Given the description of an element on the screen output the (x, y) to click on. 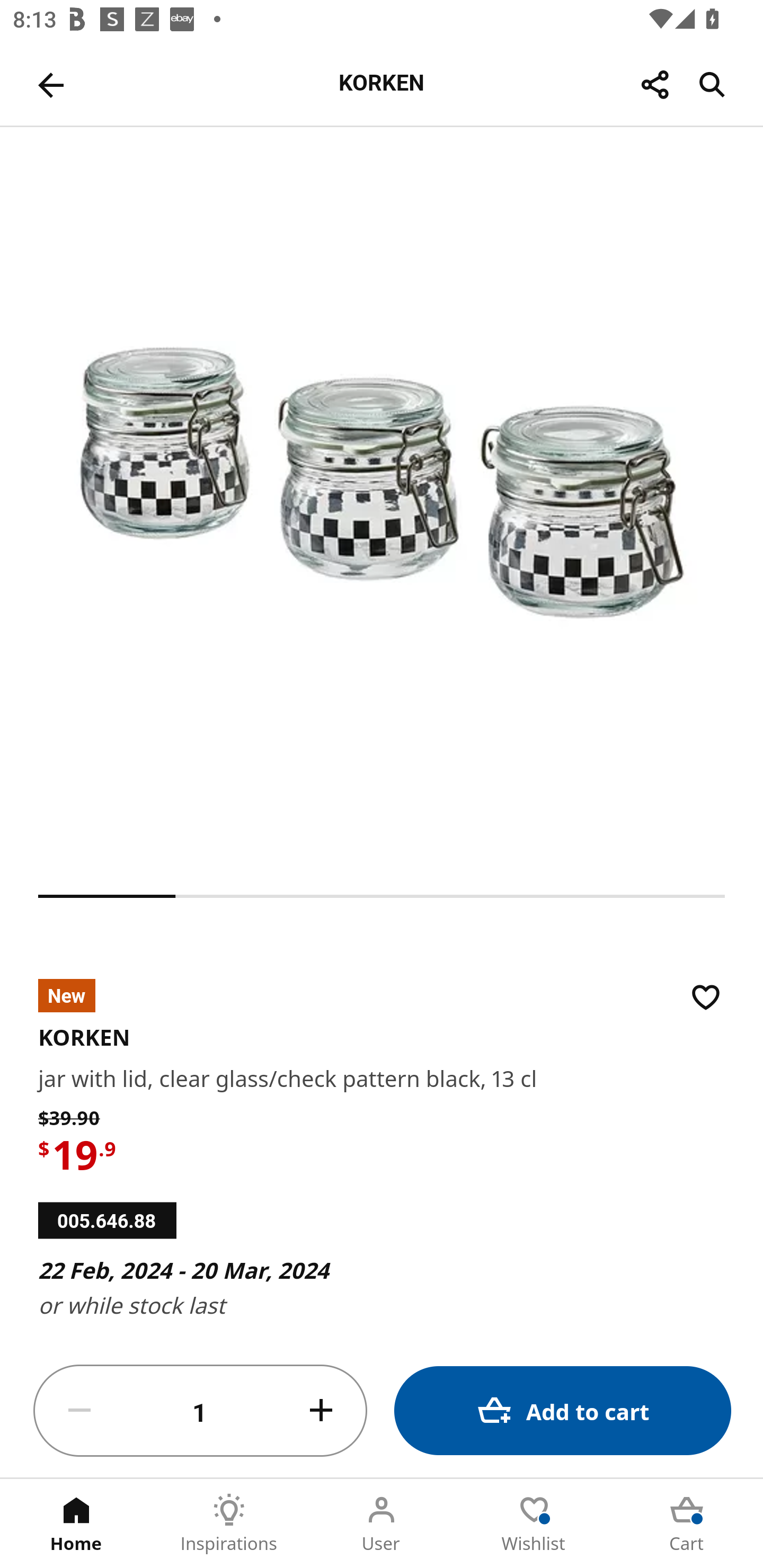
Add to cart (562, 1410)
1 (200, 1411)
Home
Tab 1 of 5 (76, 1522)
Inspirations
Tab 2 of 5 (228, 1522)
User
Tab 3 of 5 (381, 1522)
Wishlist
Tab 4 of 5 (533, 1522)
Cart
Tab 5 of 5 (686, 1522)
